Given the description of an element on the screen output the (x, y) to click on. 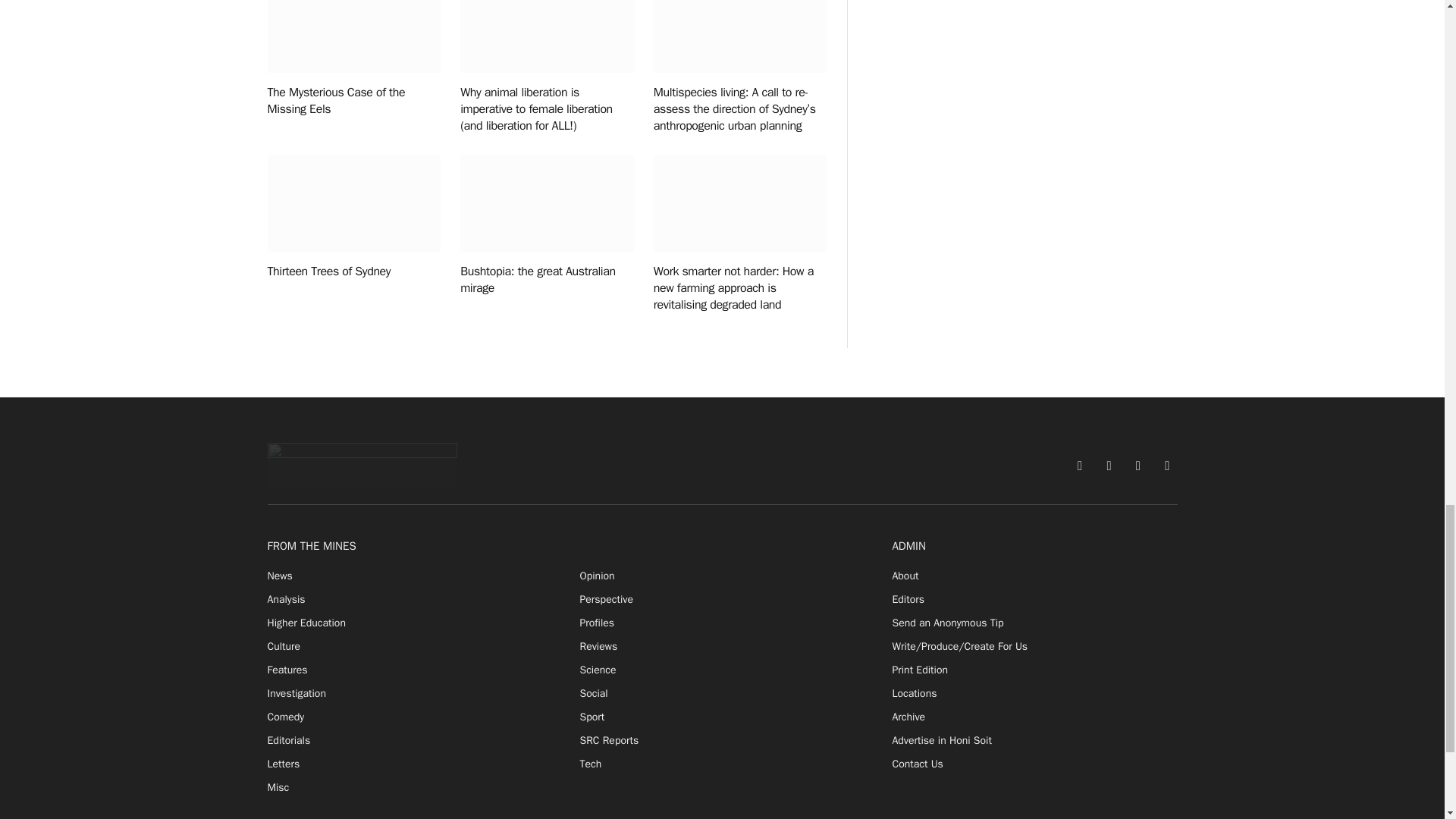
The Mysterious Case of the Missing Eels (353, 36)
Thirteen Trees of Sydney (353, 203)
Bushtopia: the great Australian mirage (546, 203)
